Given the description of an element on the screen output the (x, y) to click on. 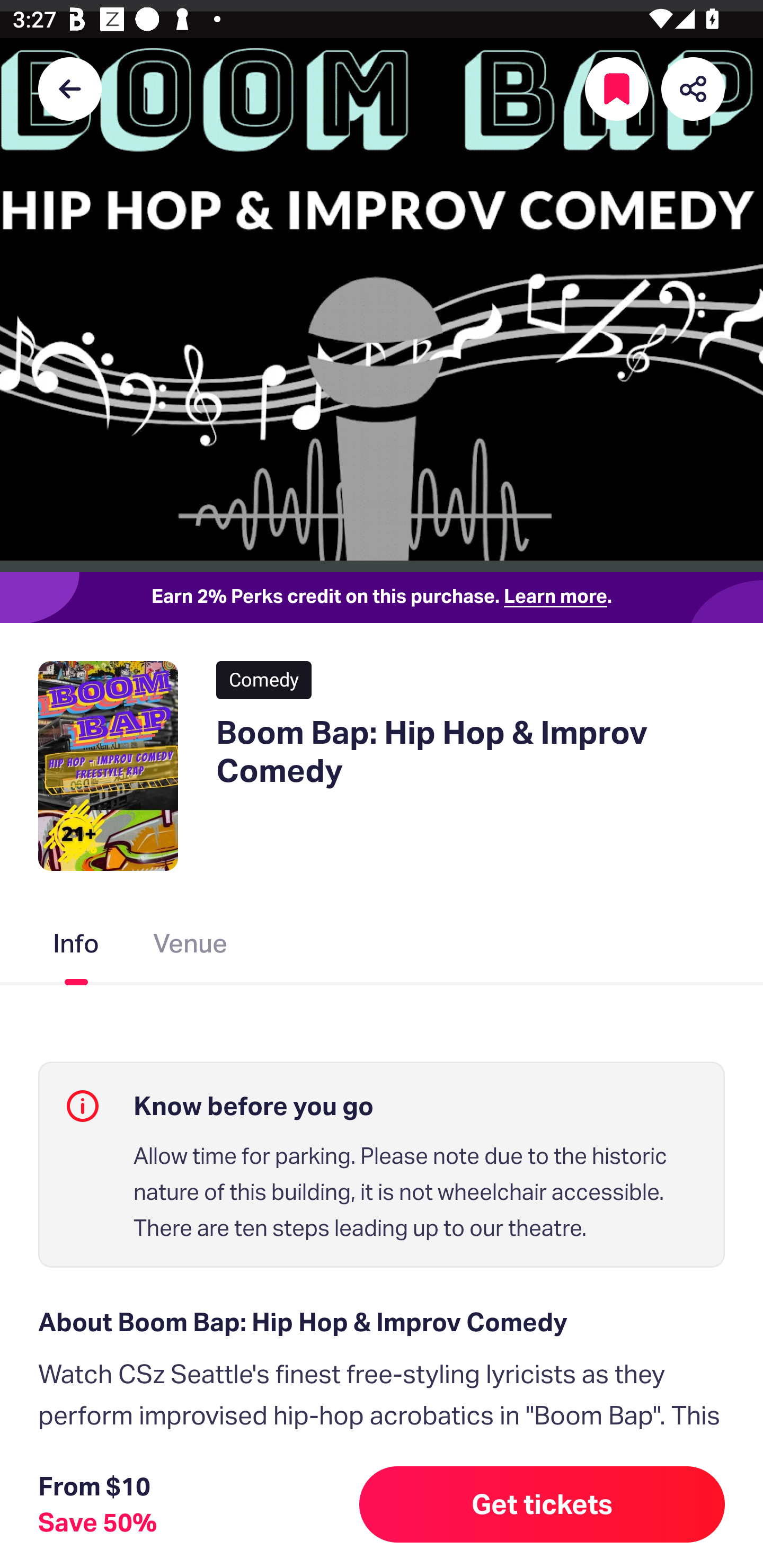
Earn 2% Perks credit on this purchase. Learn more. (381, 597)
Venue (190, 946)
About Boom Bap: Hip Hop & Improv Comedy (381, 1322)
Get tickets (541, 1504)
